Given the description of an element on the screen output the (x, y) to click on. 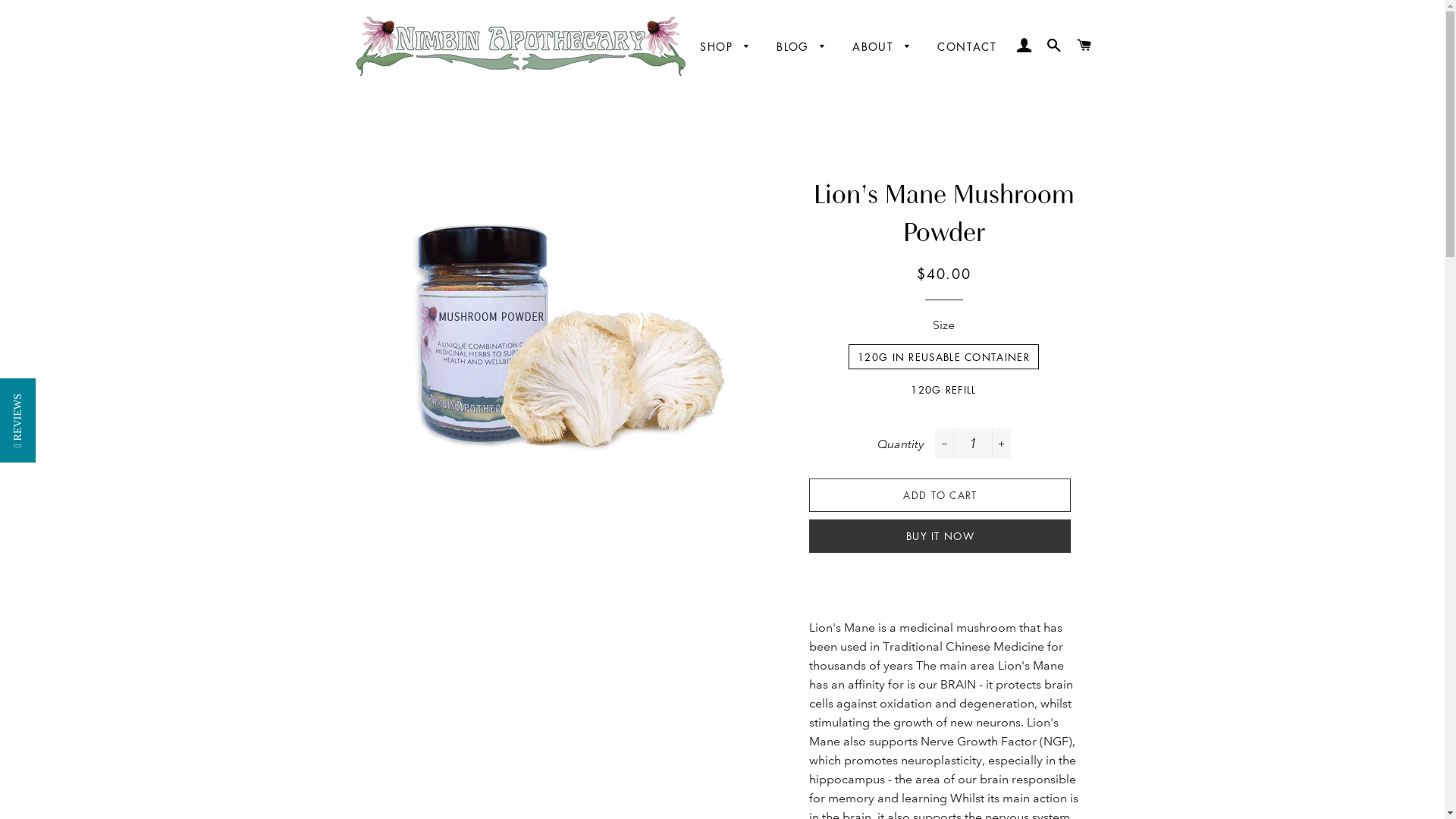
+ Element type: text (1000, 443)
CART Element type: text (1083, 45)
BLOG Element type: text (801, 46)
BUY IT NOW Element type: text (939, 535)
CONTACT Element type: text (966, 46)
LOG IN Element type: text (1023, 45)
ADD TO CART Element type: text (939, 494)
SHOP Element type: text (725, 46)
ABOUT Element type: text (881, 46)
SEARCH Element type: text (1054, 45)
